Given the description of an element on the screen output the (x, y) to click on. 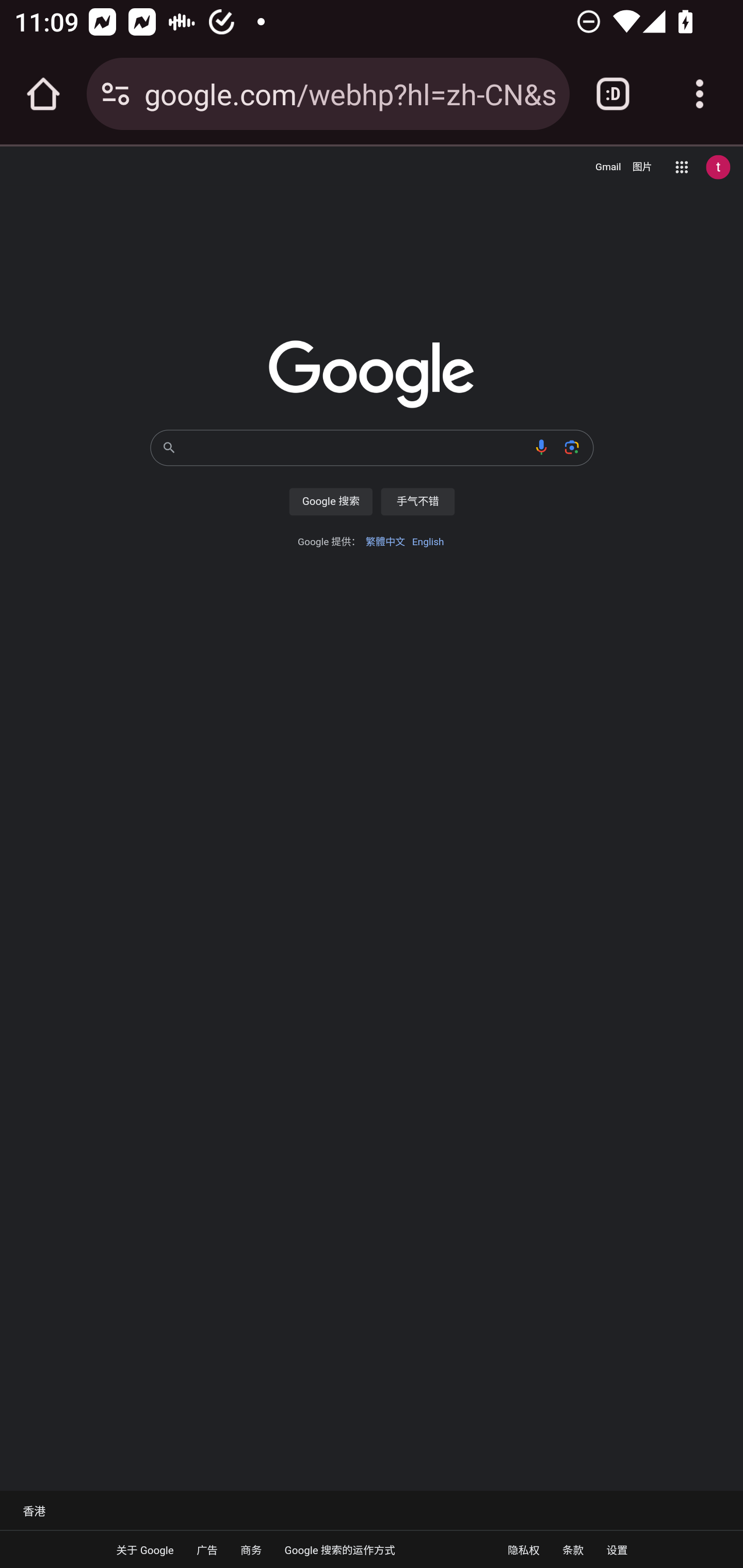
Open the home page (43, 93)
Connection is secure (115, 93)
Switch or close tabs (612, 93)
Customize and control Google Chrome (699, 93)
Google 应用 (681, 167)
Google 账号： test appium (testappium002@gmail.com) (718, 167)
Gmail （打开新标签页） Gmail (608, 166)
搜索图片 （打开新标签页） 图片 (641, 166)
按语音搜索 (541, 446)
按图搜索 (571, 446)
Google 搜索 (330, 501)
 手气不错  (417, 501)
繁體中文 (384, 541)
English (427, 541)
关于 Google (144, 1549)
广告 (206, 1549)
商务 (251, 1549)
Google 搜索的运作方式 (339, 1549)
隐私权 (523, 1549)
条款 (572, 1549)
设置 (616, 1549)
